Given the description of an element on the screen output the (x, y) to click on. 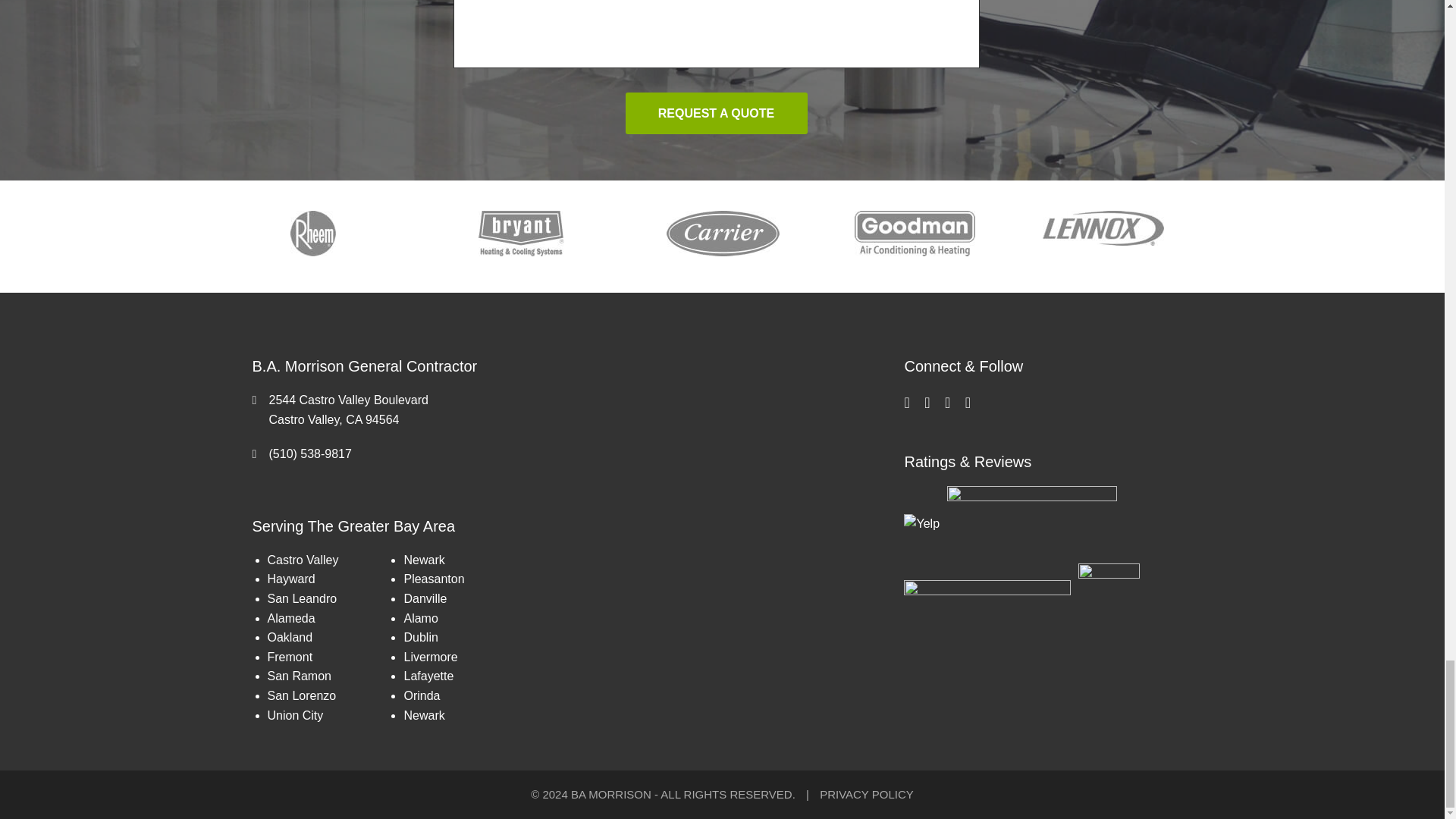
REQUEST A QUOTE (715, 113)
